Given the description of an element on the screen output the (x, y) to click on. 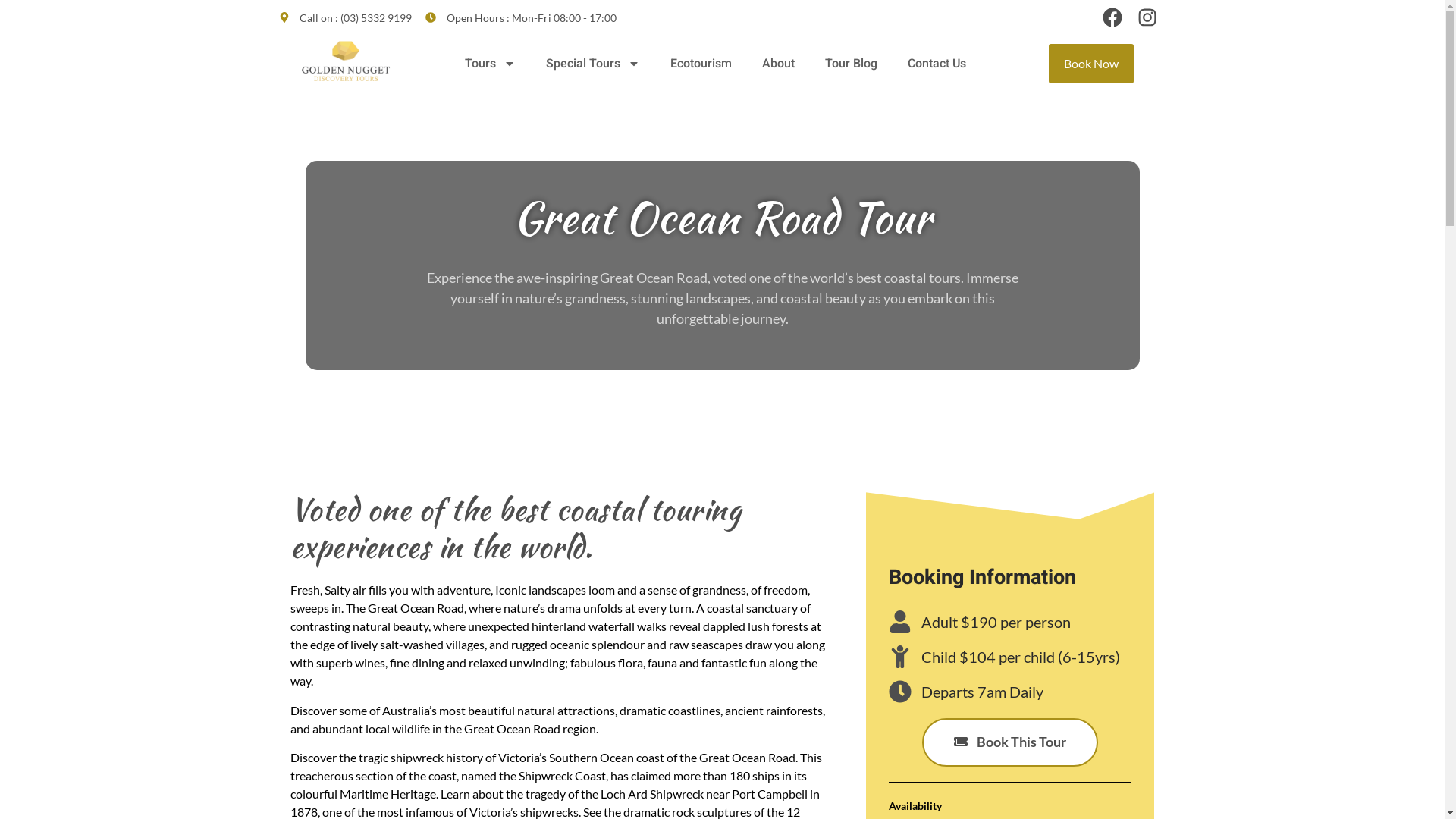
Special Tours Element type: text (592, 63)
Contact Us Element type: text (936, 63)
Tour Blog Element type: text (850, 63)
Book This Tour Element type: text (1010, 742)
About Element type: text (777, 63)
Ecotourism Element type: text (700, 63)
Tours Element type: text (489, 63)
Call on : (03) 5332 9199 Element type: text (345, 17)
Book Now Element type: text (1090, 63)
